Given the description of an element on the screen output the (x, y) to click on. 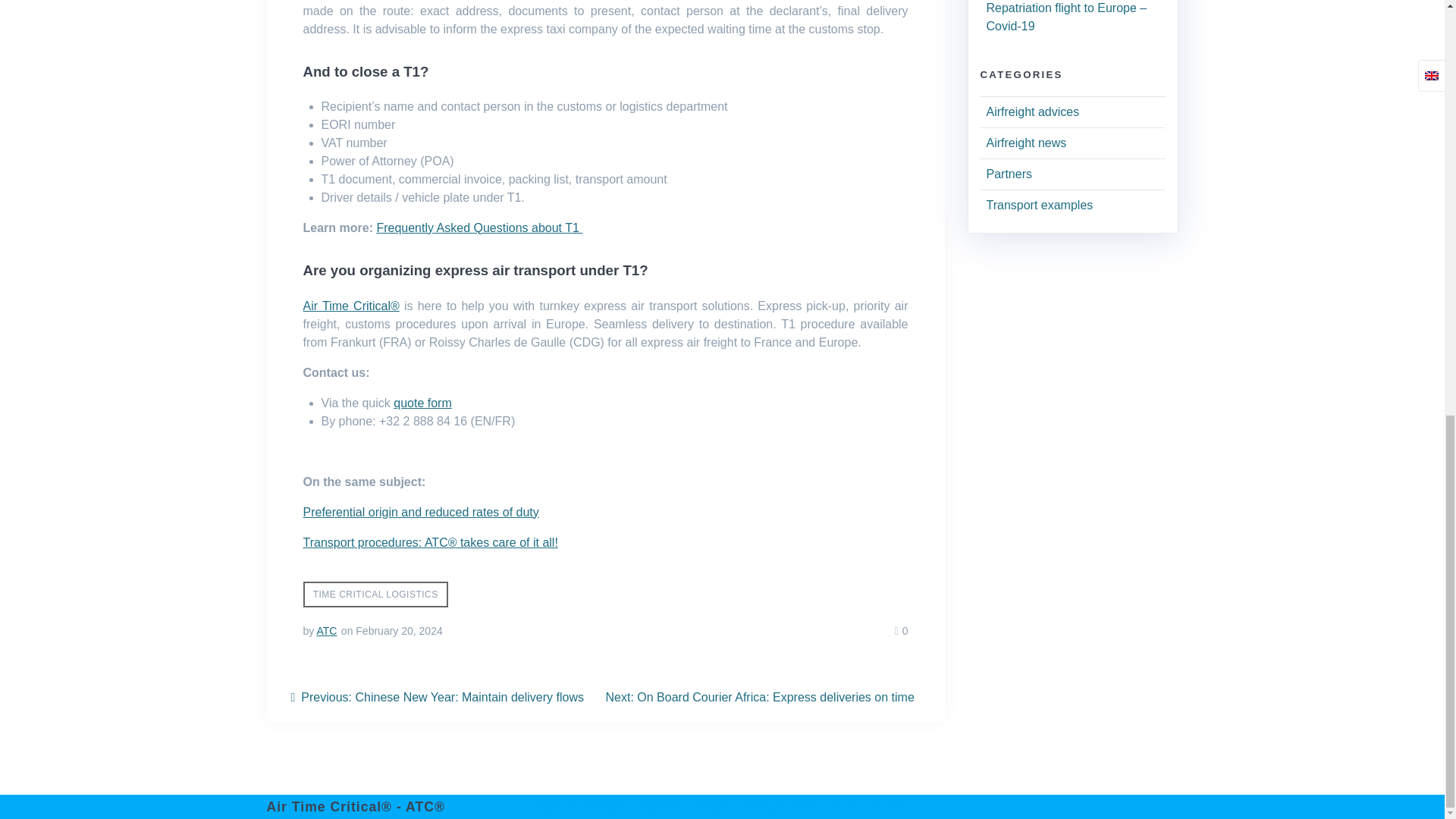
Posts by ATC (325, 630)
